Given the description of an element on the screen output the (x, y) to click on. 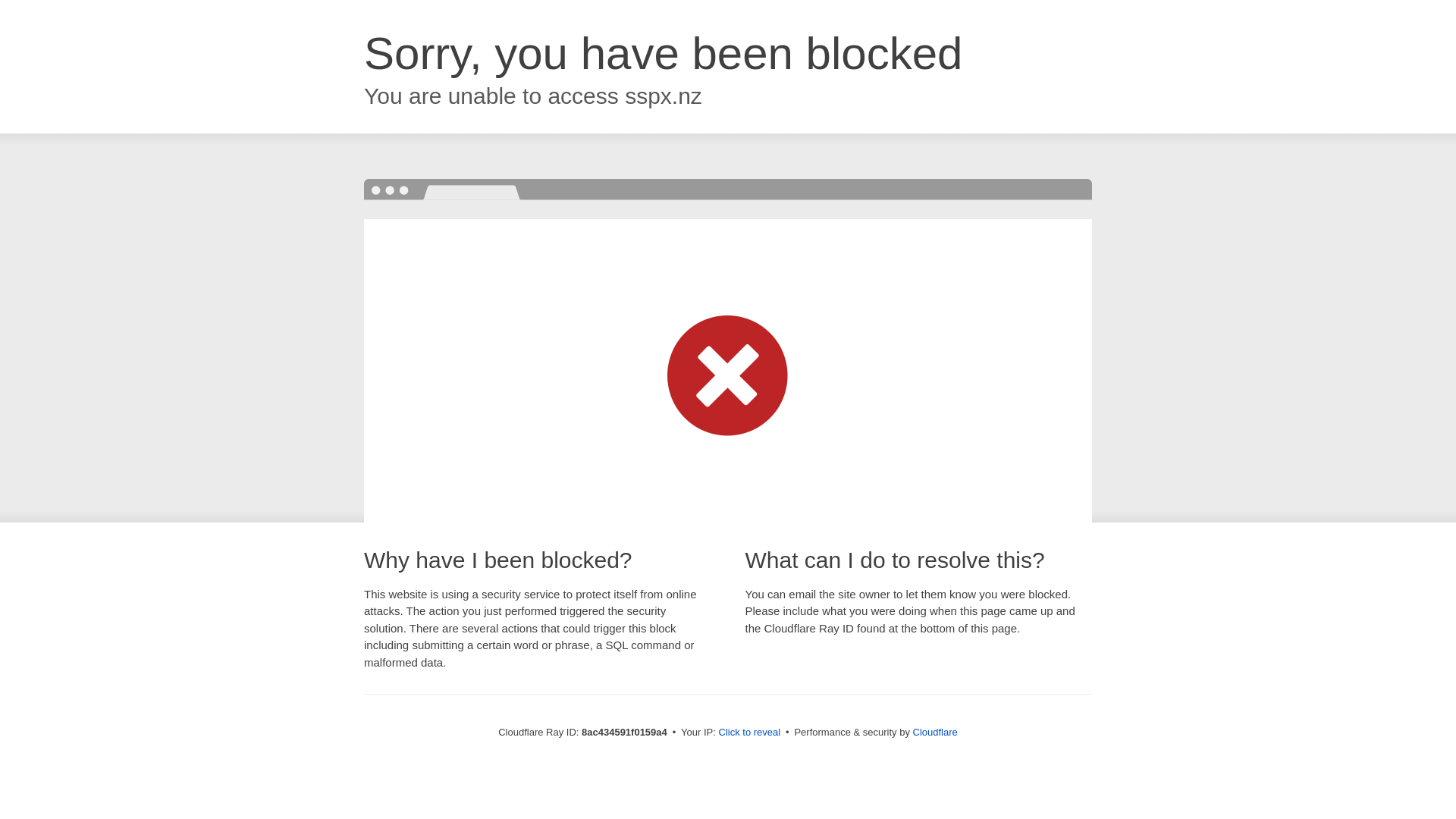
Cloudflare (935, 731)
Click to reveal (749, 732)
